Given the description of an element on the screen output the (x, y) to click on. 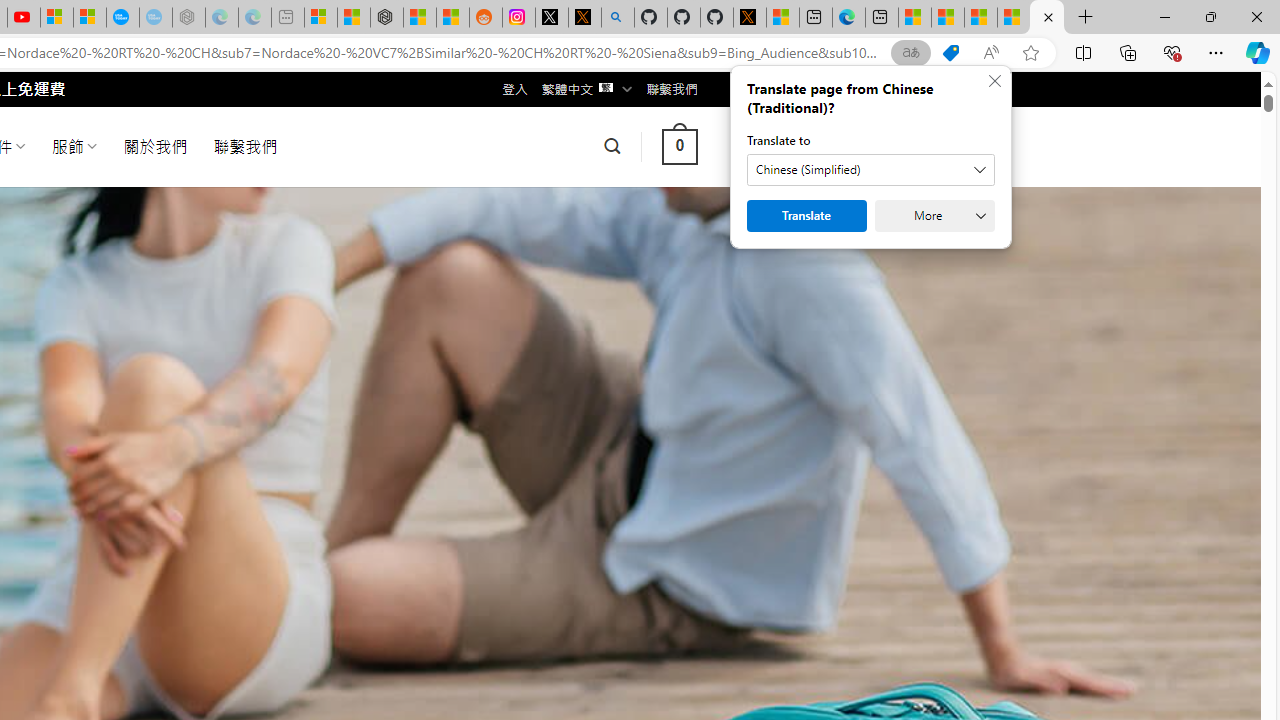
The most popular Google 'how to' searches - Sleeping (155, 17)
Collections (1128, 52)
Translate to (870, 169)
 0  (679, 146)
Minimize (1164, 16)
MSNBC - MSN (947, 17)
Microsoft account | Microsoft Account Privacy Settings (320, 17)
